Given the description of an element on the screen output the (x, y) to click on. 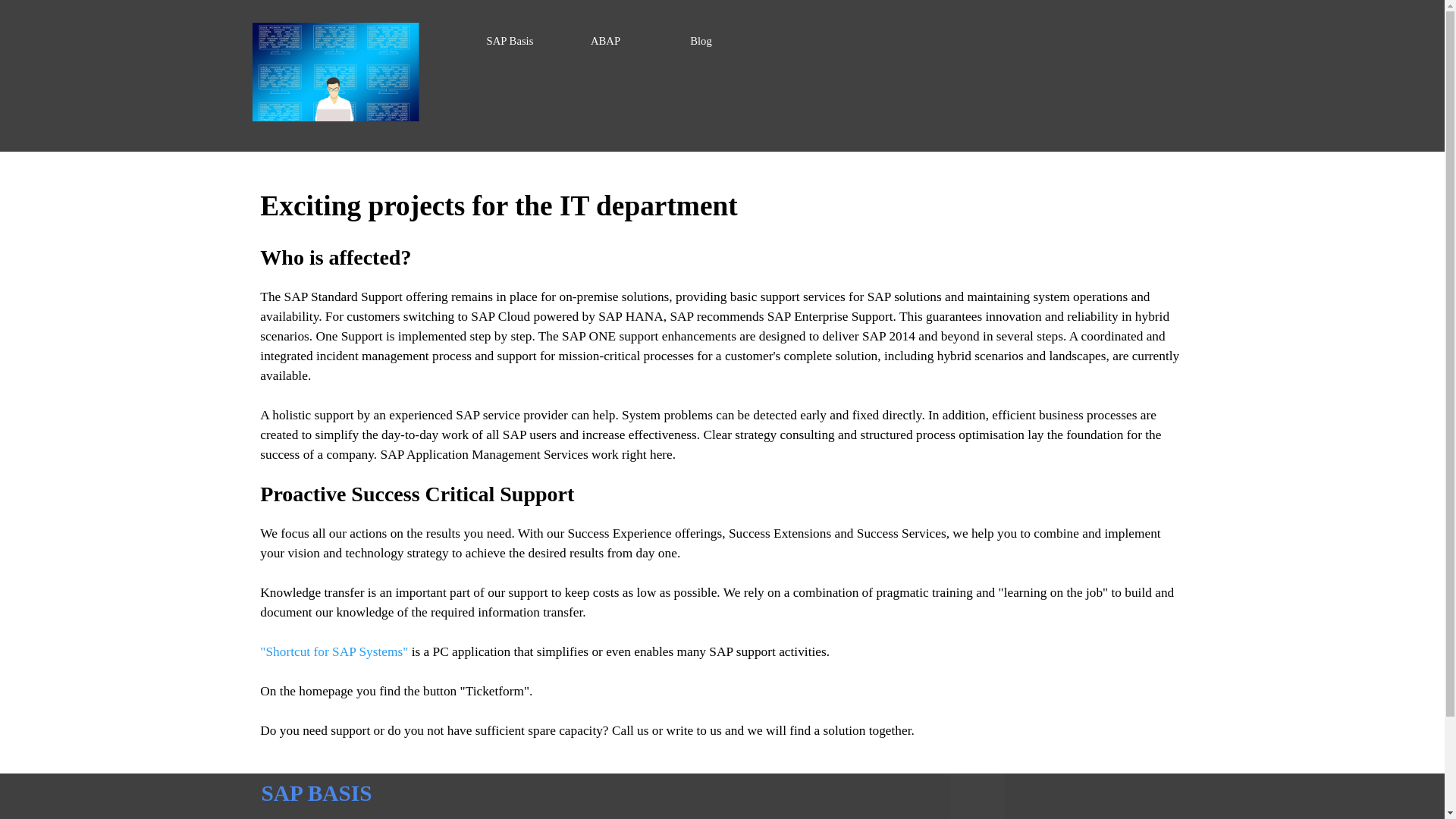
Blog (700, 40)
ABAP (605, 40)
SAP Basis (509, 40)
"Shortcut for SAP Systems" (333, 651)
Impressum (672, 815)
Kontakt (438, 815)
